Given the description of an element on the screen output the (x, y) to click on. 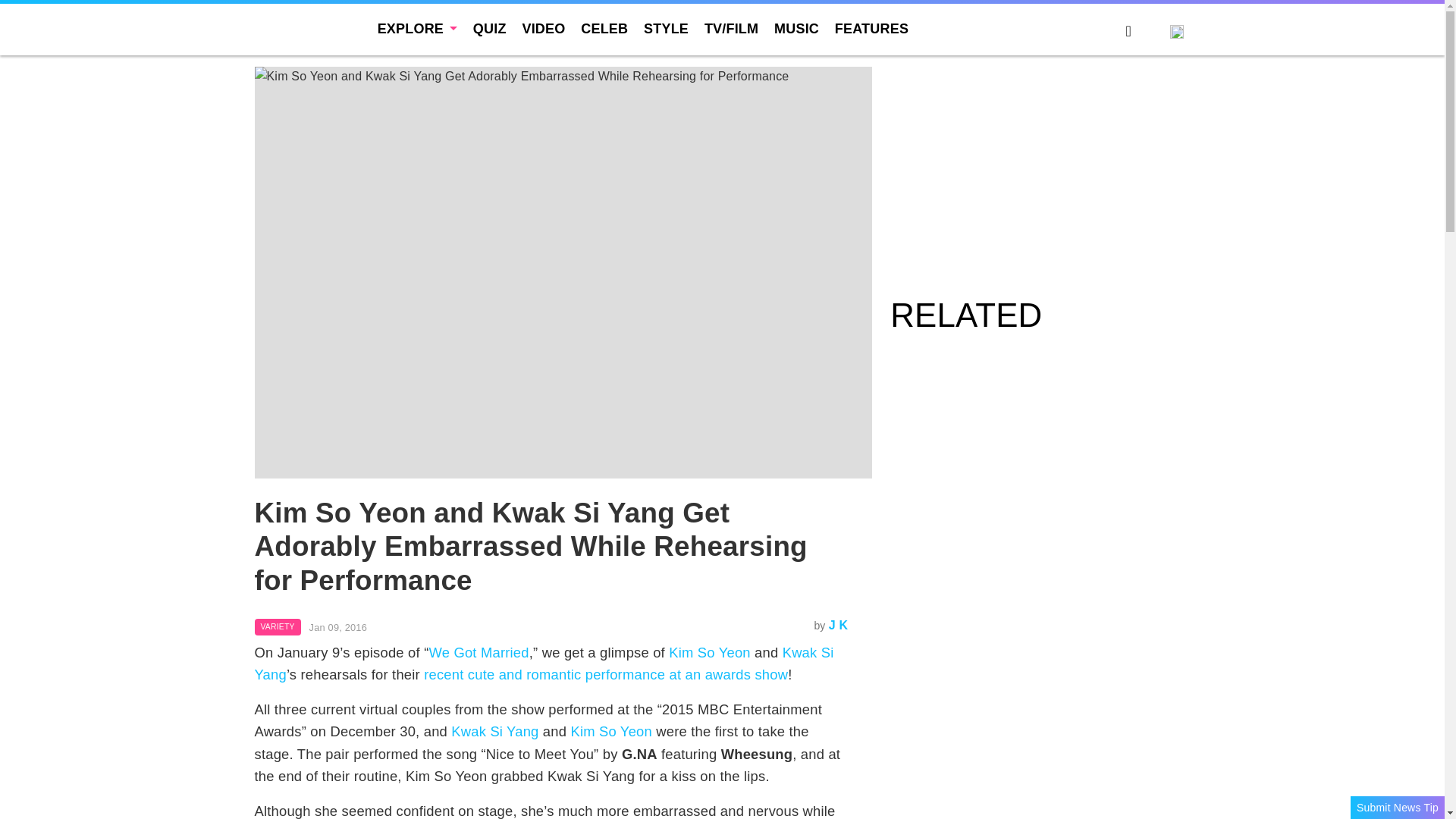
Articles by J K (838, 625)
Kwak Si Yang (494, 731)
FEATURES (871, 28)
Kwak Si Yang (544, 663)
CELEB (603, 28)
STYLE (665, 28)
Kim So Yeon (709, 652)
Variety (277, 627)
VARIETY (277, 627)
Kim So Yeon (611, 731)
